Given the description of an element on the screen output the (x, y) to click on. 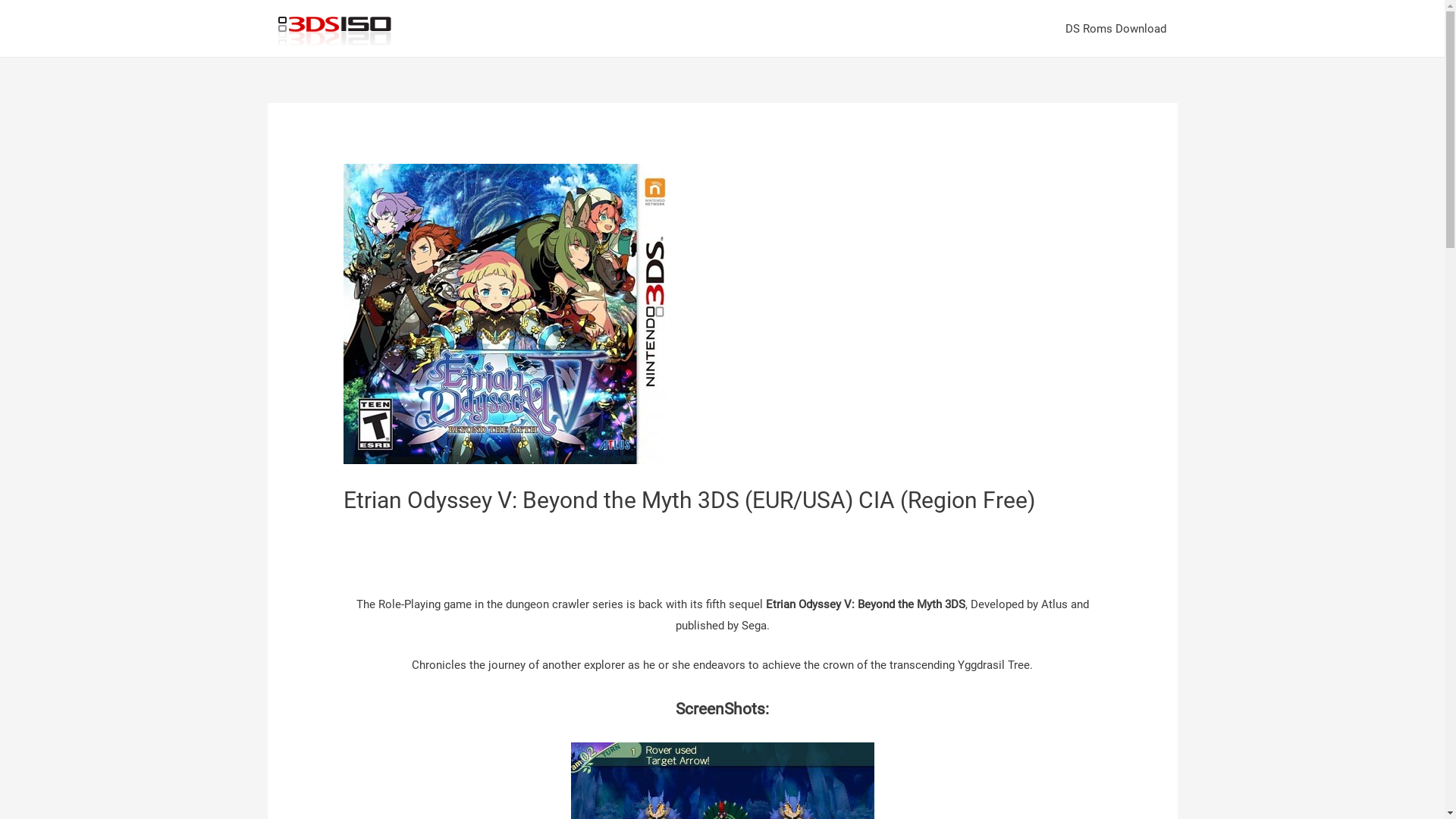
DS Roms Download Element type: text (1115, 28)
